Given the description of an element on the screen output the (x, y) to click on. 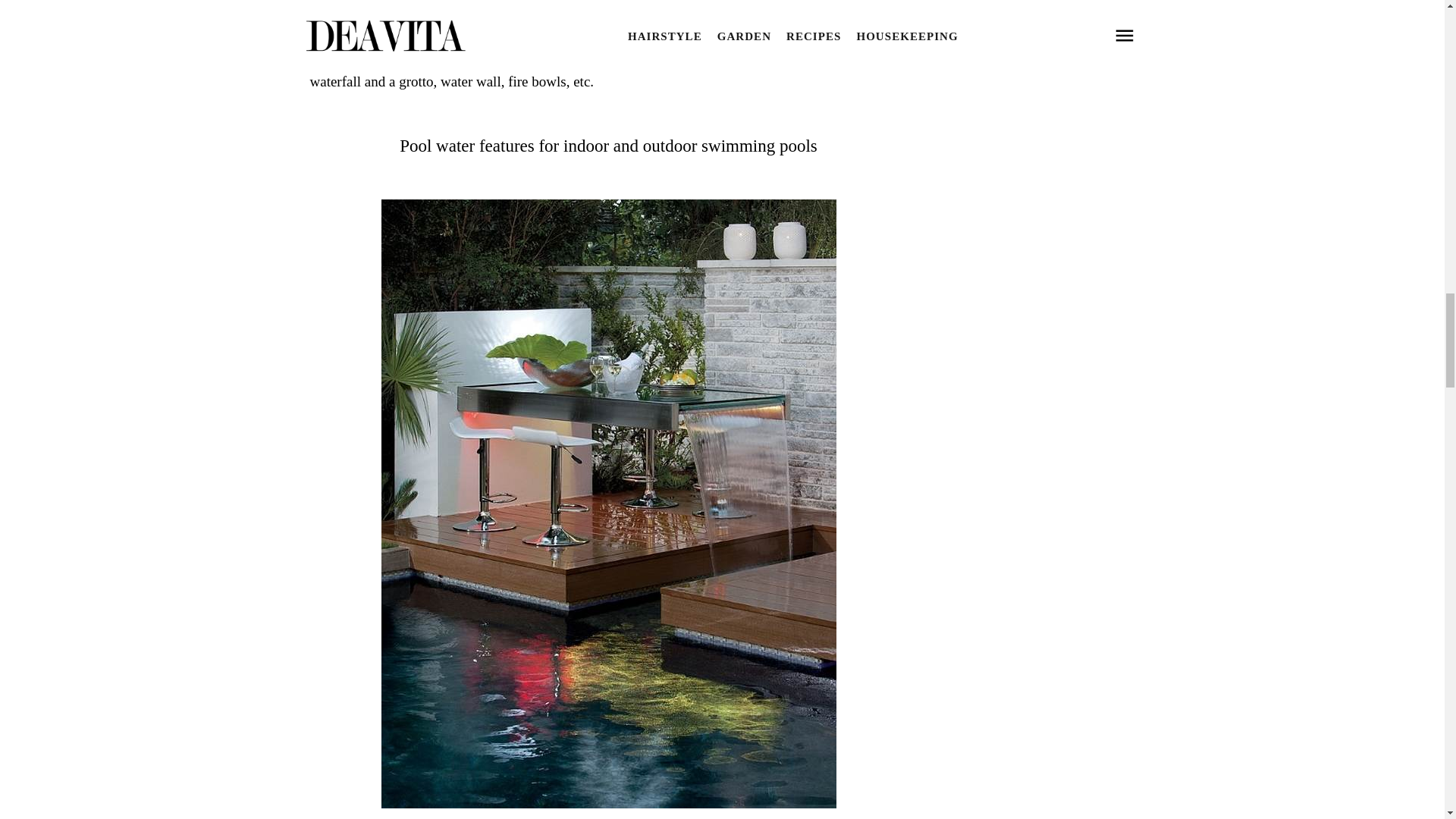
Creative pool waterfalls original water features ideas (607, 803)
